Given the description of an element on the screen output the (x, y) to click on. 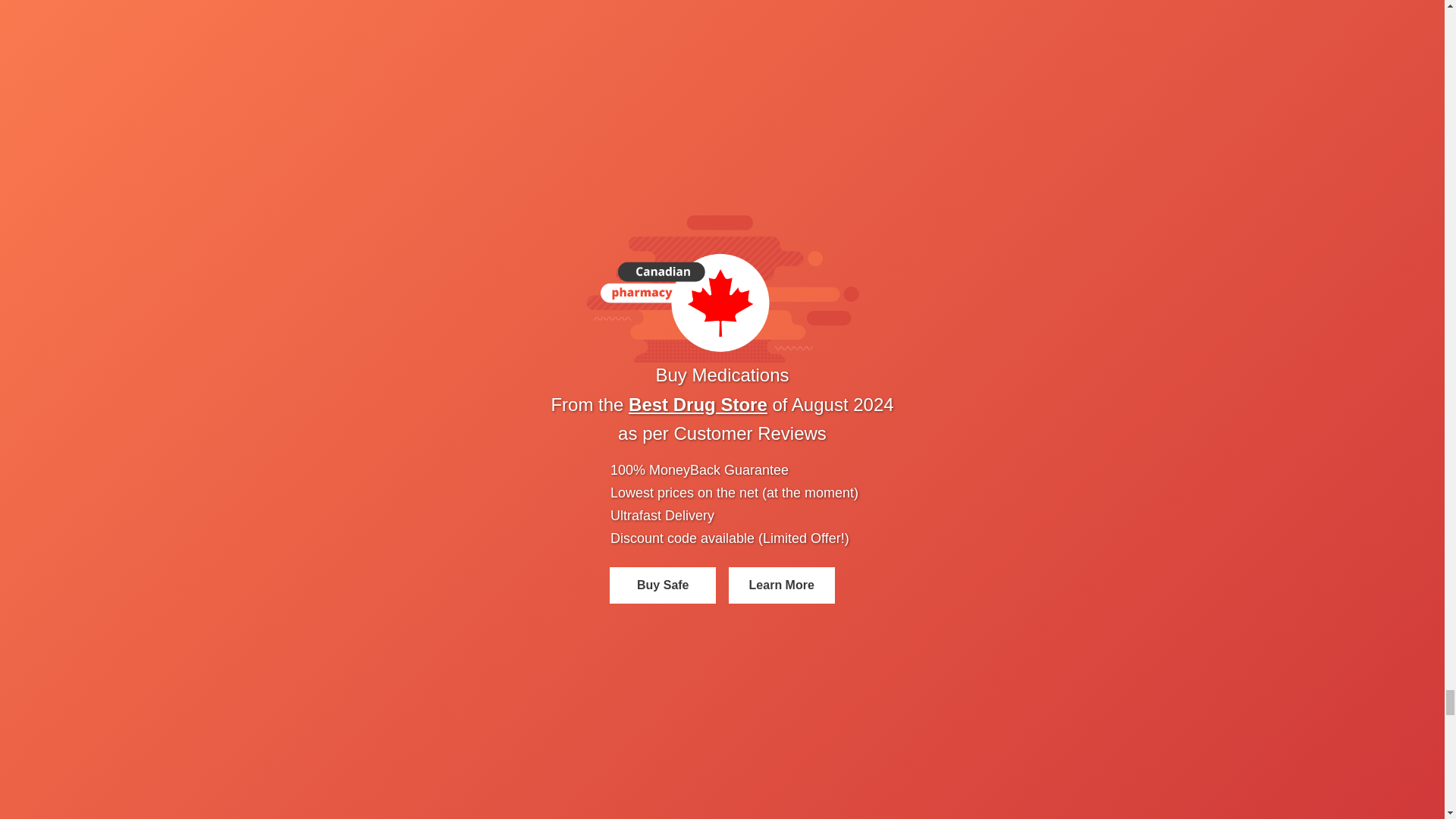
Read More (63, 360)
